Given the description of an element on the screen output the (x, y) to click on. 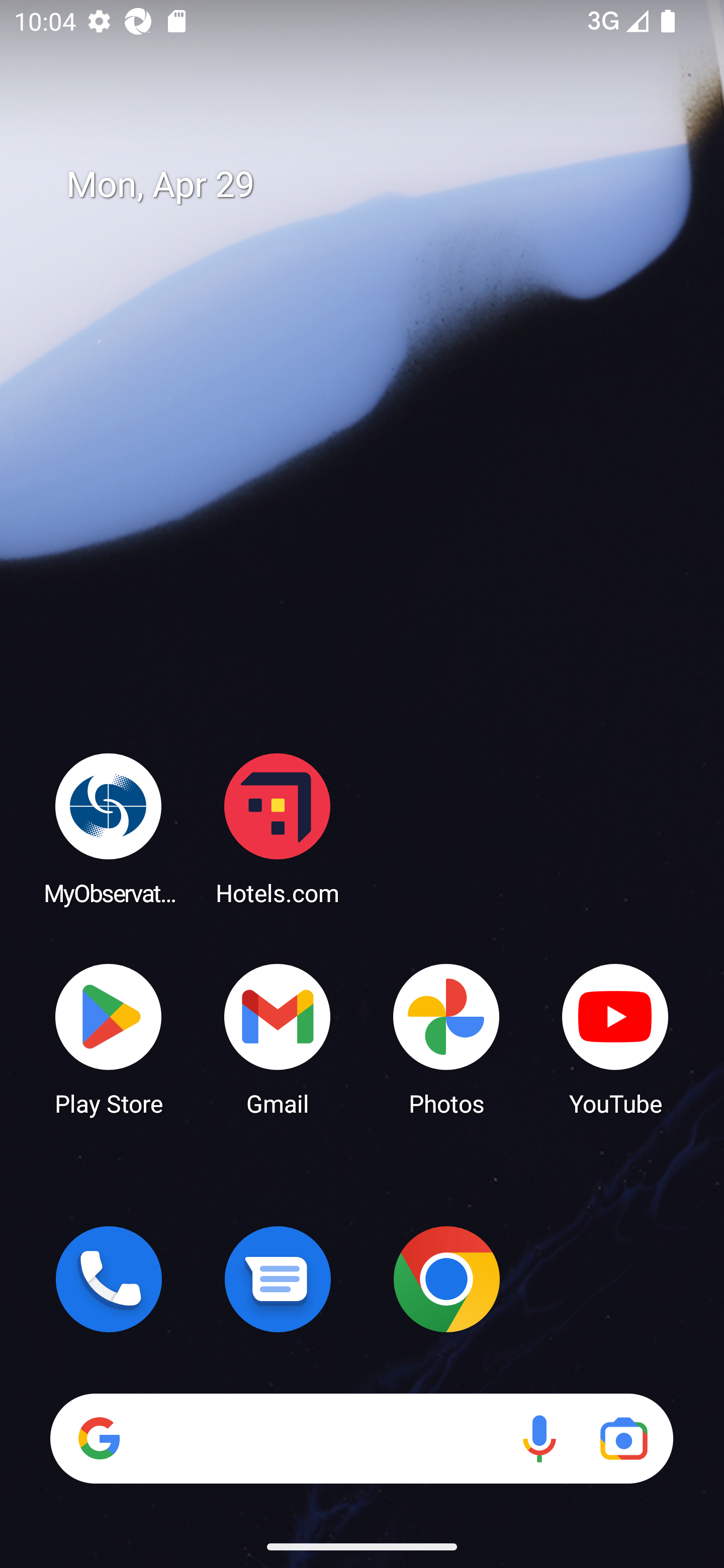
Mon, Apr 29 (375, 184)
MyObservatory (108, 828)
Hotels.com (277, 828)
Play Store (108, 1038)
Gmail (277, 1038)
Photos (445, 1038)
YouTube (615, 1038)
Phone (108, 1279)
Messages (277, 1279)
Chrome (446, 1279)
Search Voice search Google Lens (361, 1438)
Voice search (539, 1438)
Google Lens (623, 1438)
